Given the description of an element on the screen output the (x, y) to click on. 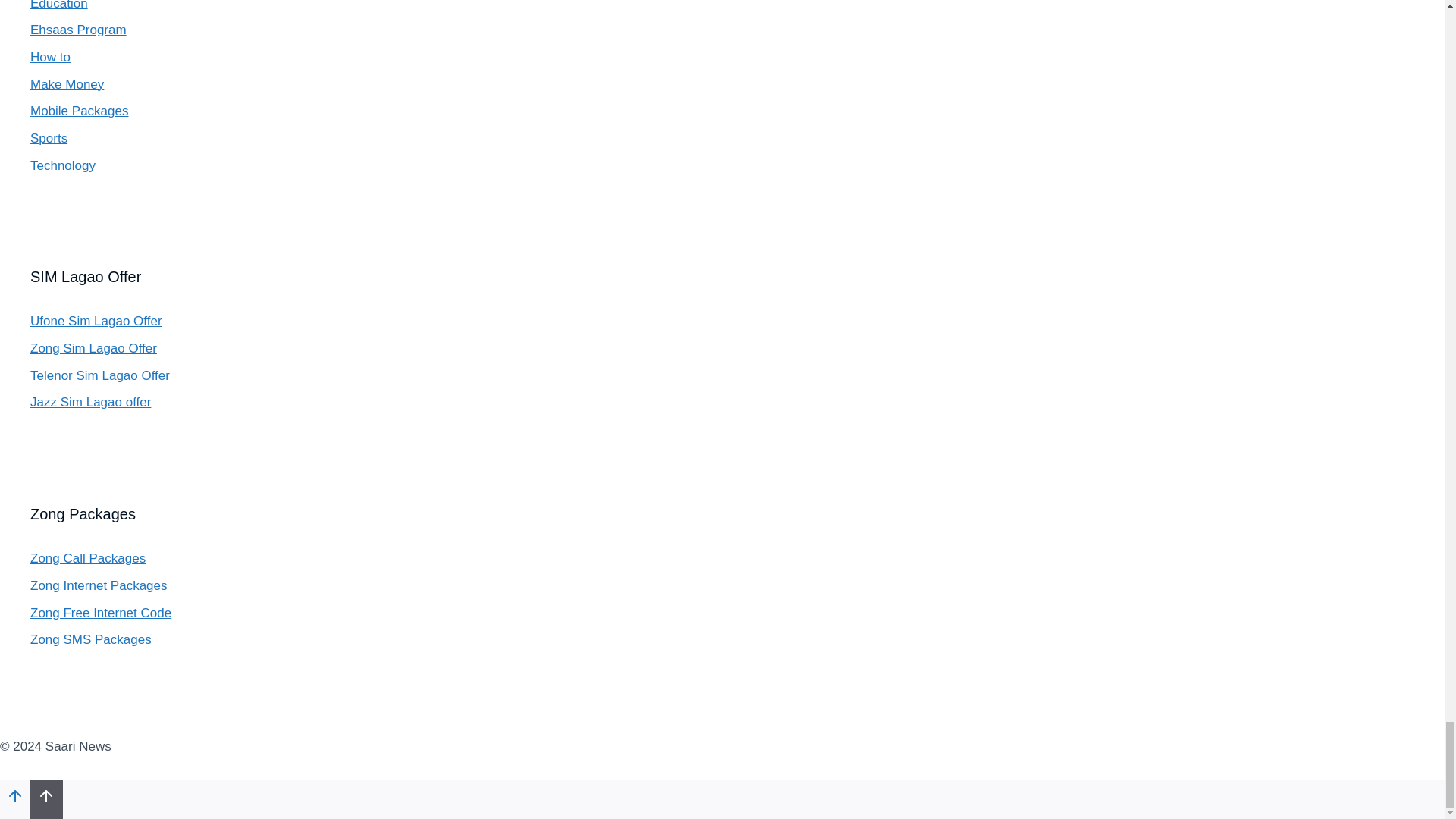
Scroll to top (14, 796)
Scroll to top (15, 799)
Scroll to top (46, 796)
